Given the description of an element on the screen output the (x, y) to click on. 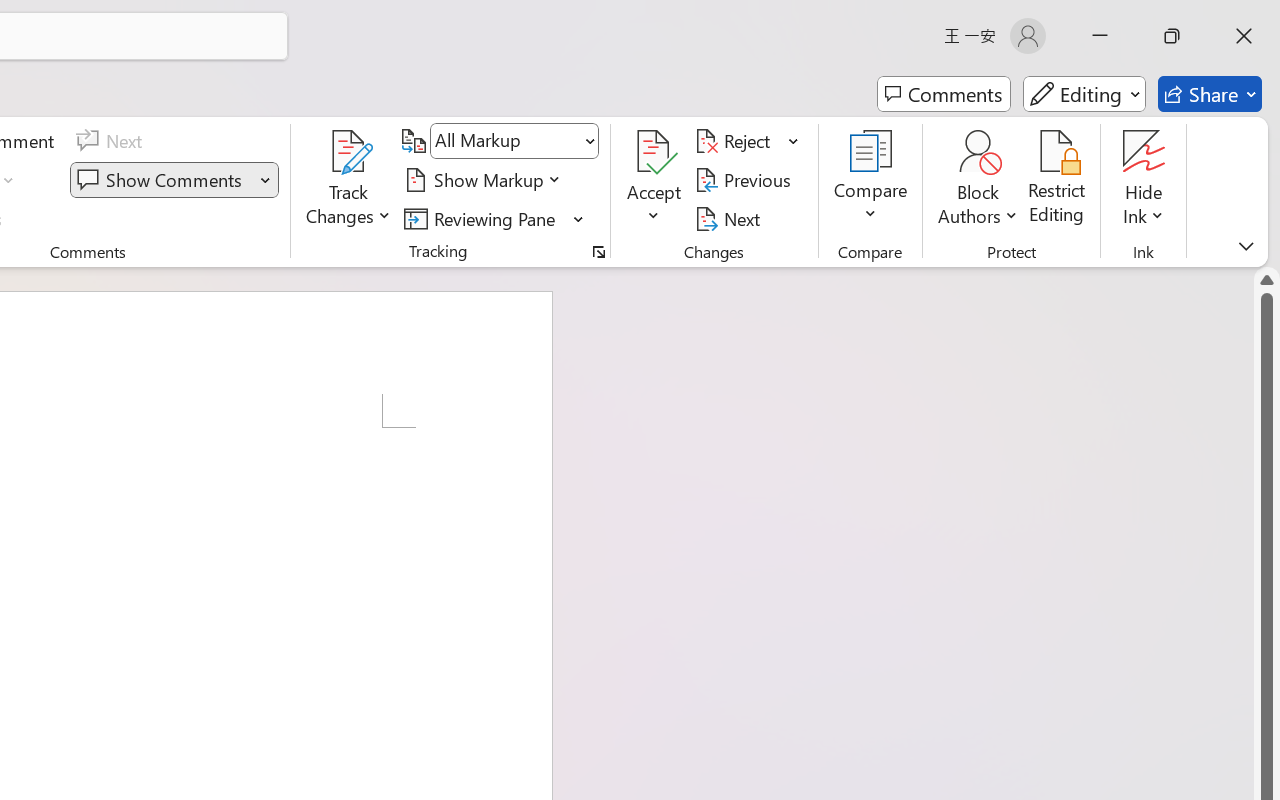
Accept (653, 179)
